Given the description of an element on the screen output the (x, y) to click on. 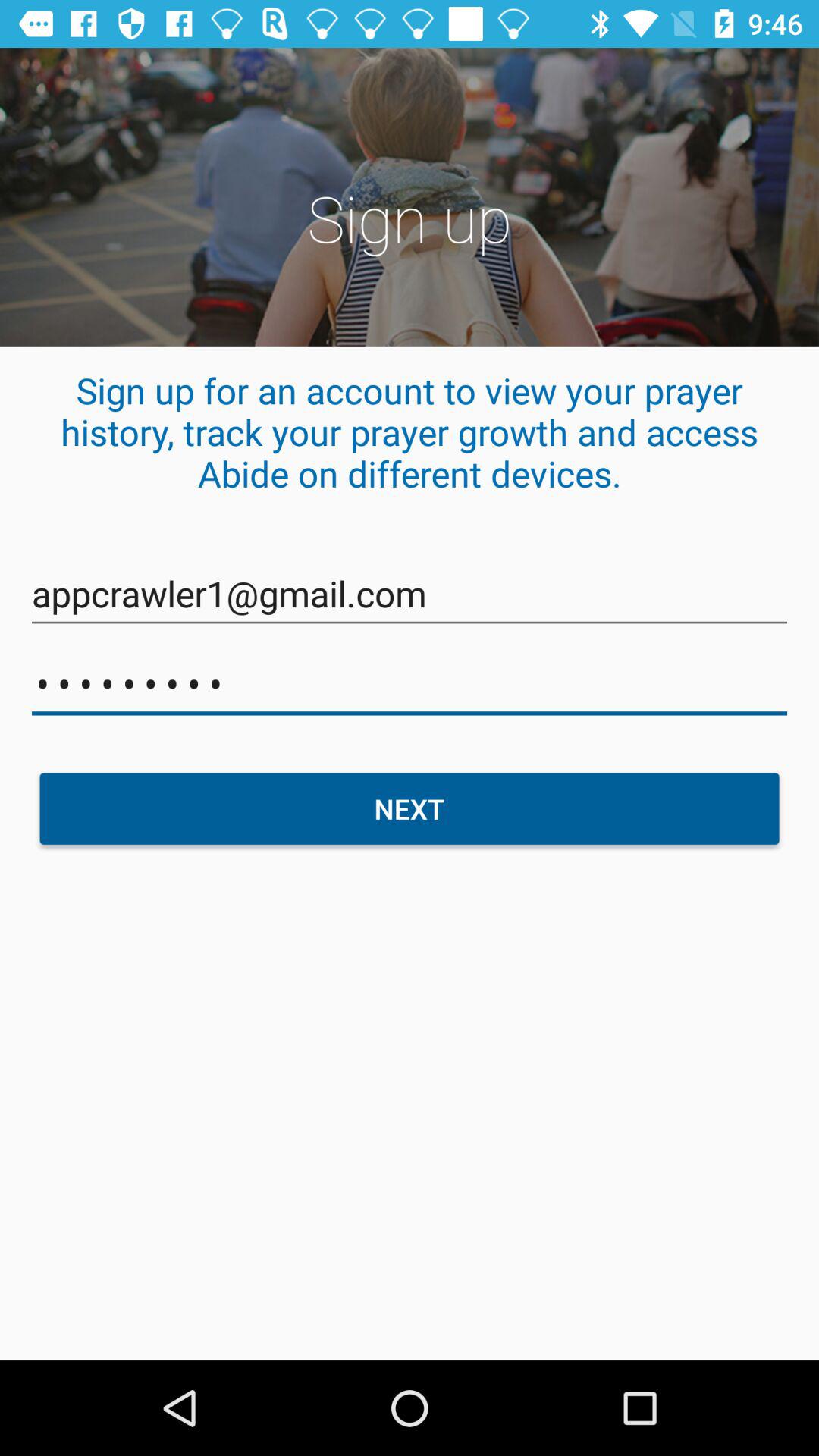
tap next (409, 808)
